Given the description of an element on the screen output the (x, y) to click on. 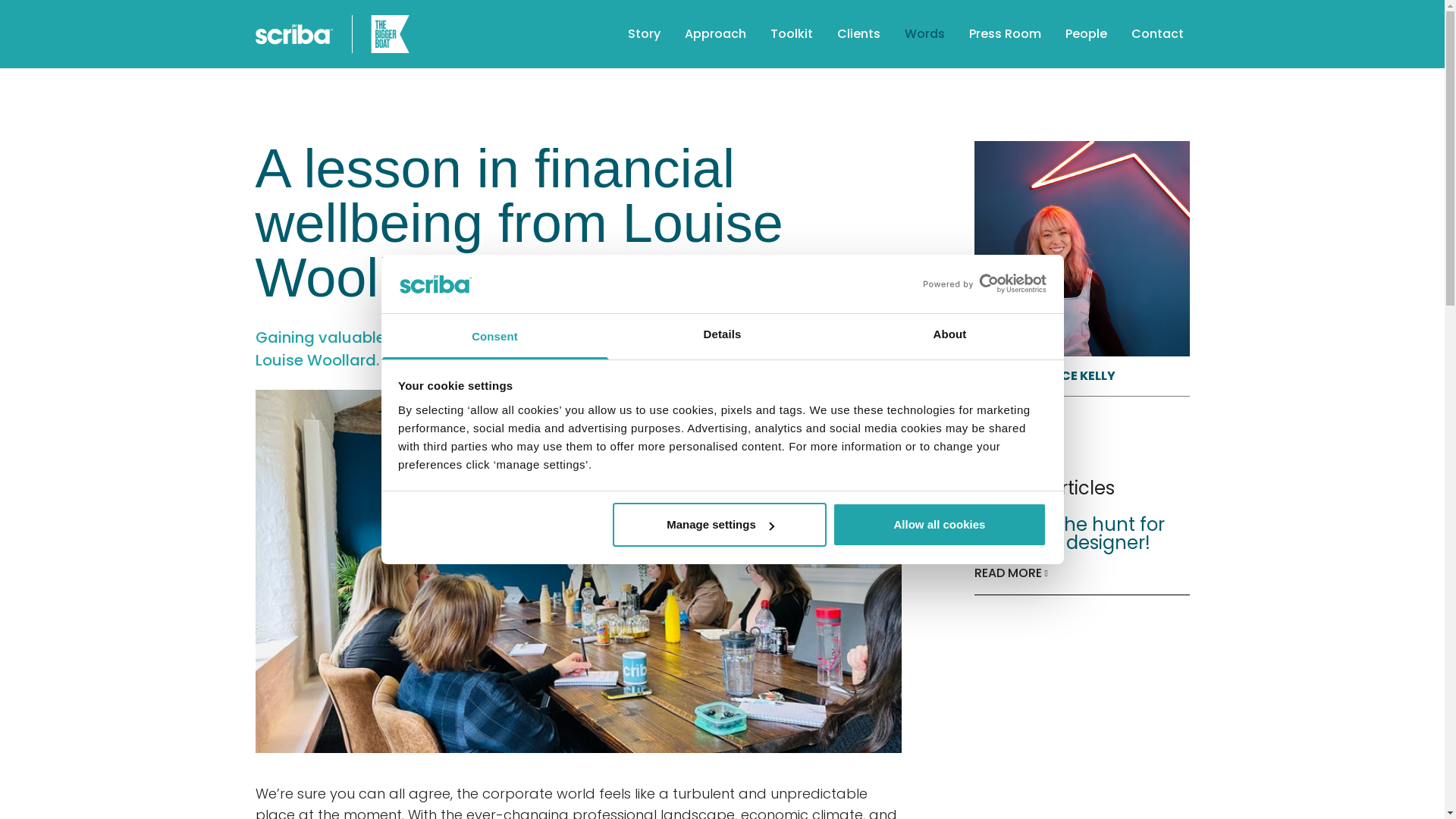
Details (721, 336)
Story (644, 33)
Allow all cookies (939, 524)
Consent (494, 336)
Approach (714, 33)
Manage settings (719, 524)
About (948, 336)
